Given the description of an element on the screen output the (x, y) to click on. 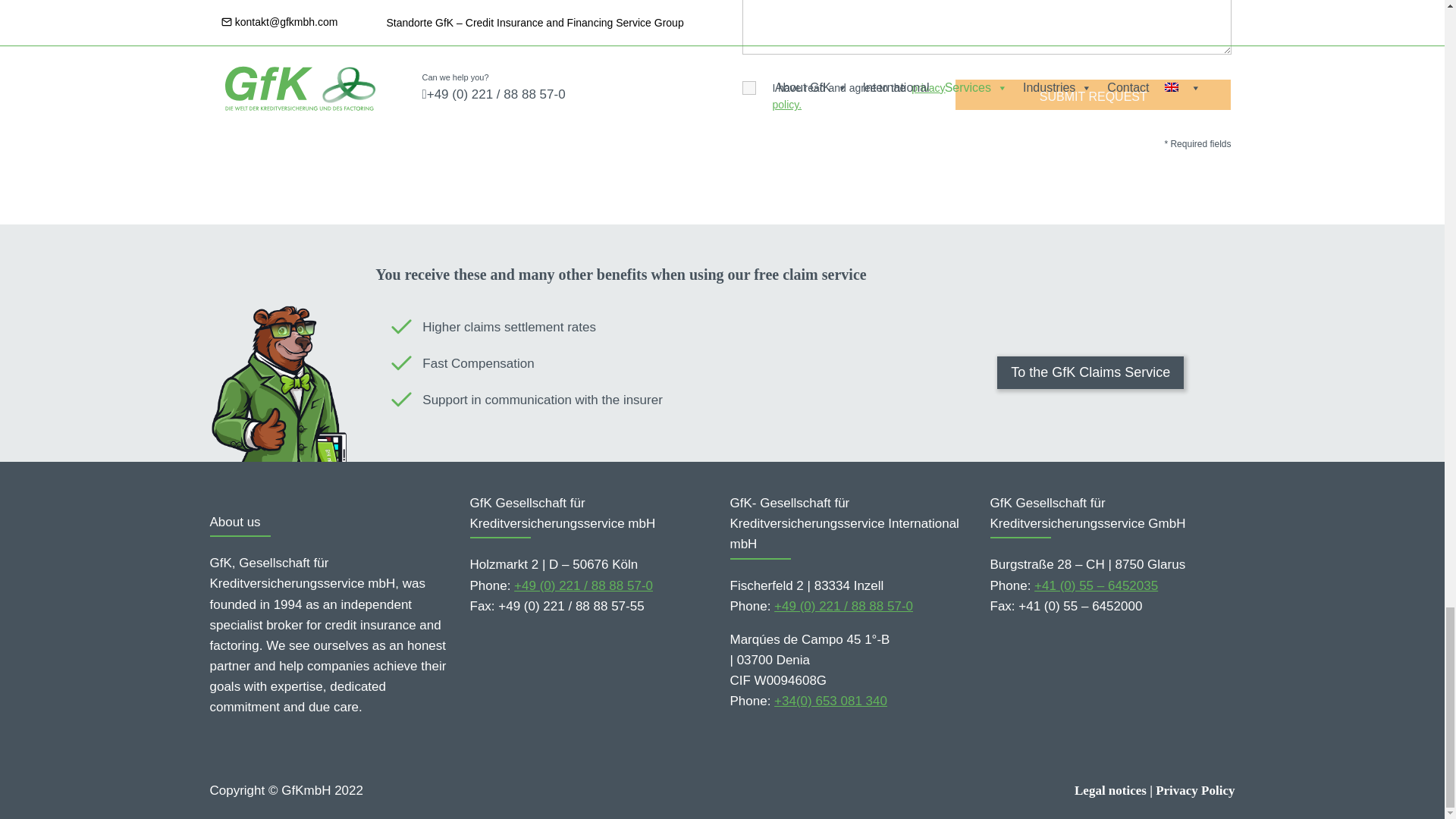
SUBMIT REQUEST (1092, 94)
